Given the description of an element on the screen output the (x, y) to click on. 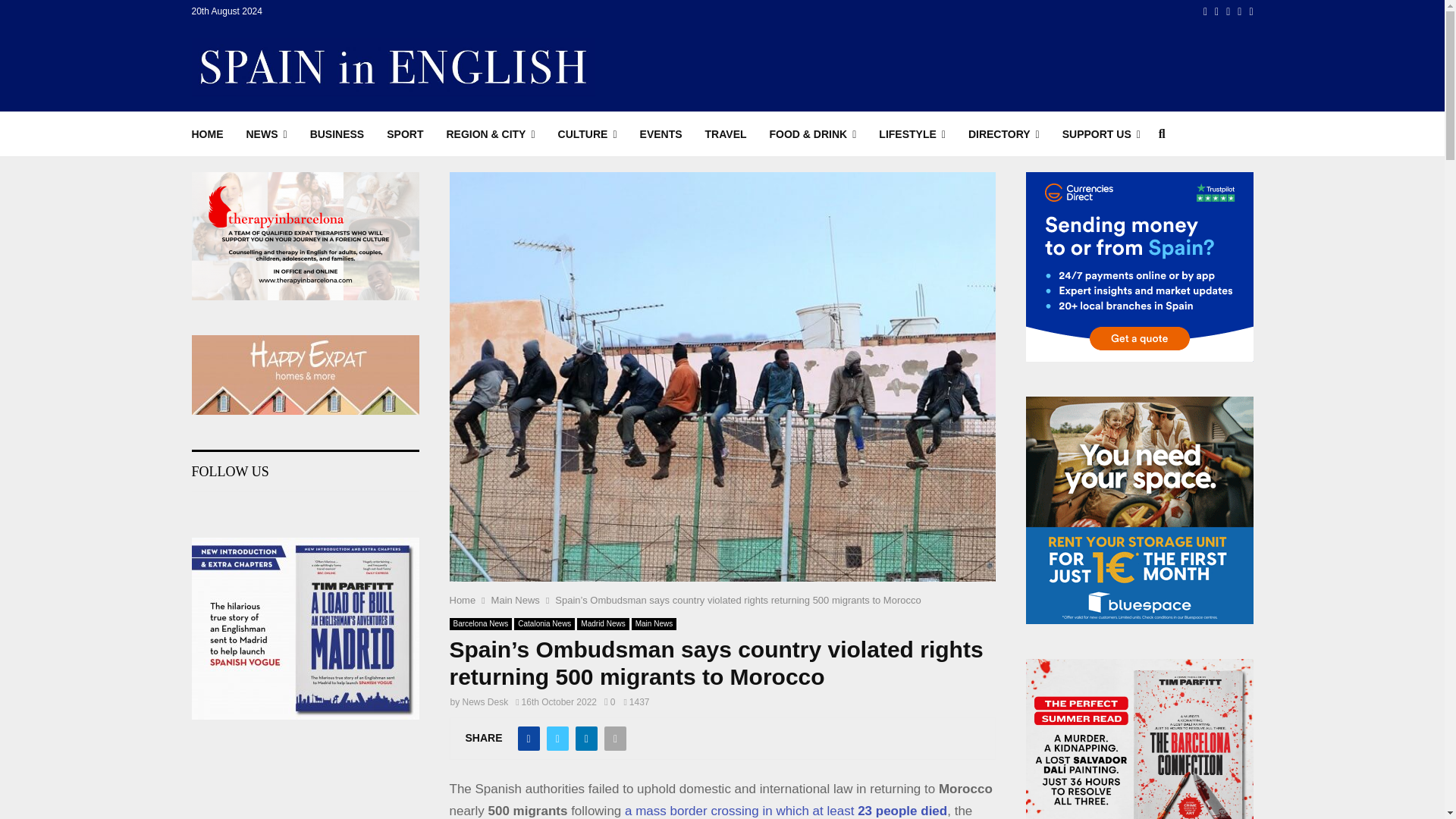
Sign up new account (722, 527)
EVENTS (661, 134)
BUSINESS (337, 134)
TRAVEL (725, 134)
CULTURE (587, 134)
LIFESTYLE (911, 134)
NEWS (266, 134)
Login to your account (722, 293)
